Given the description of an element on the screen output the (x, y) to click on. 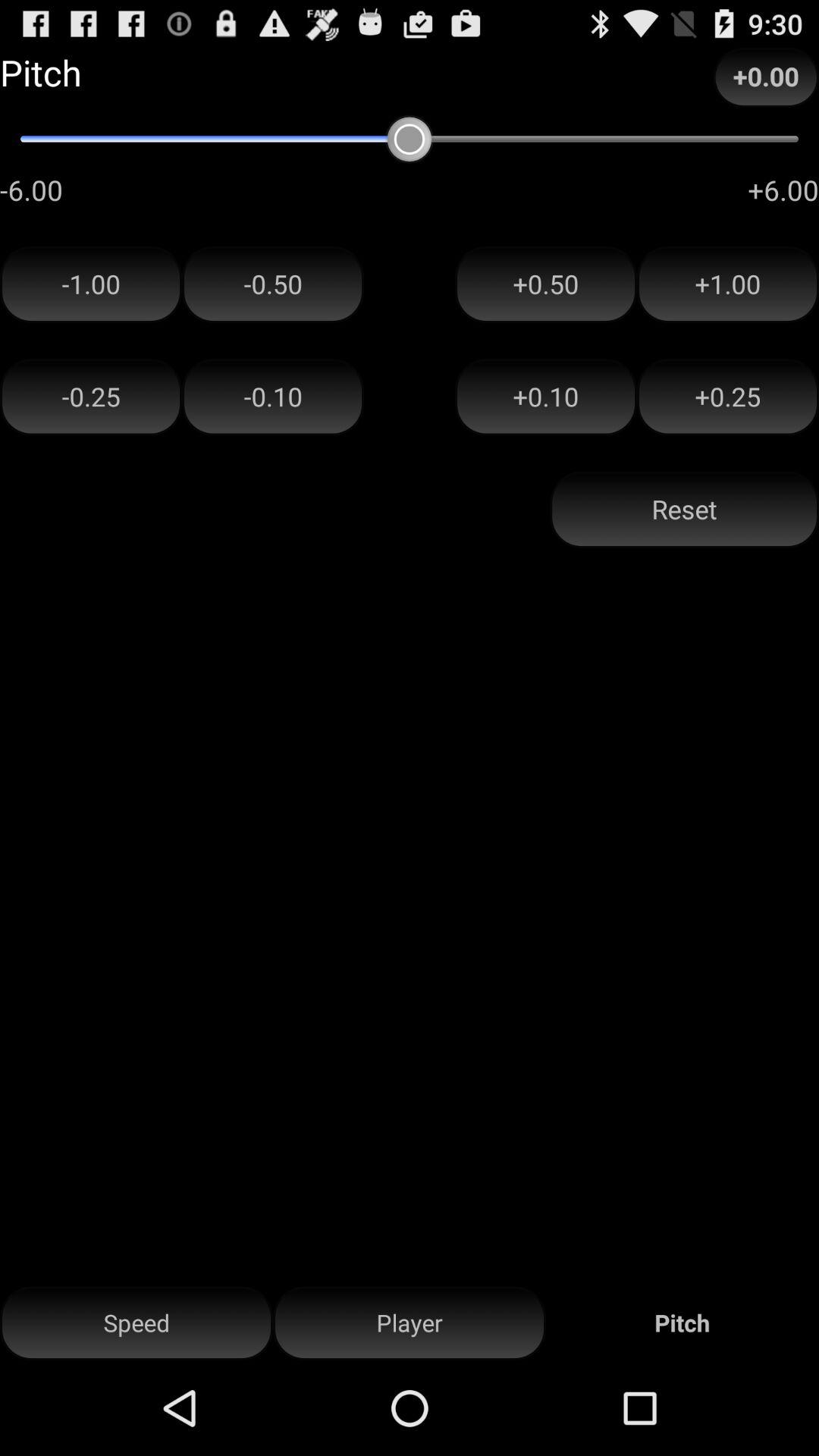
turn on the player button (409, 1323)
